Given the description of an element on the screen output the (x, y) to click on. 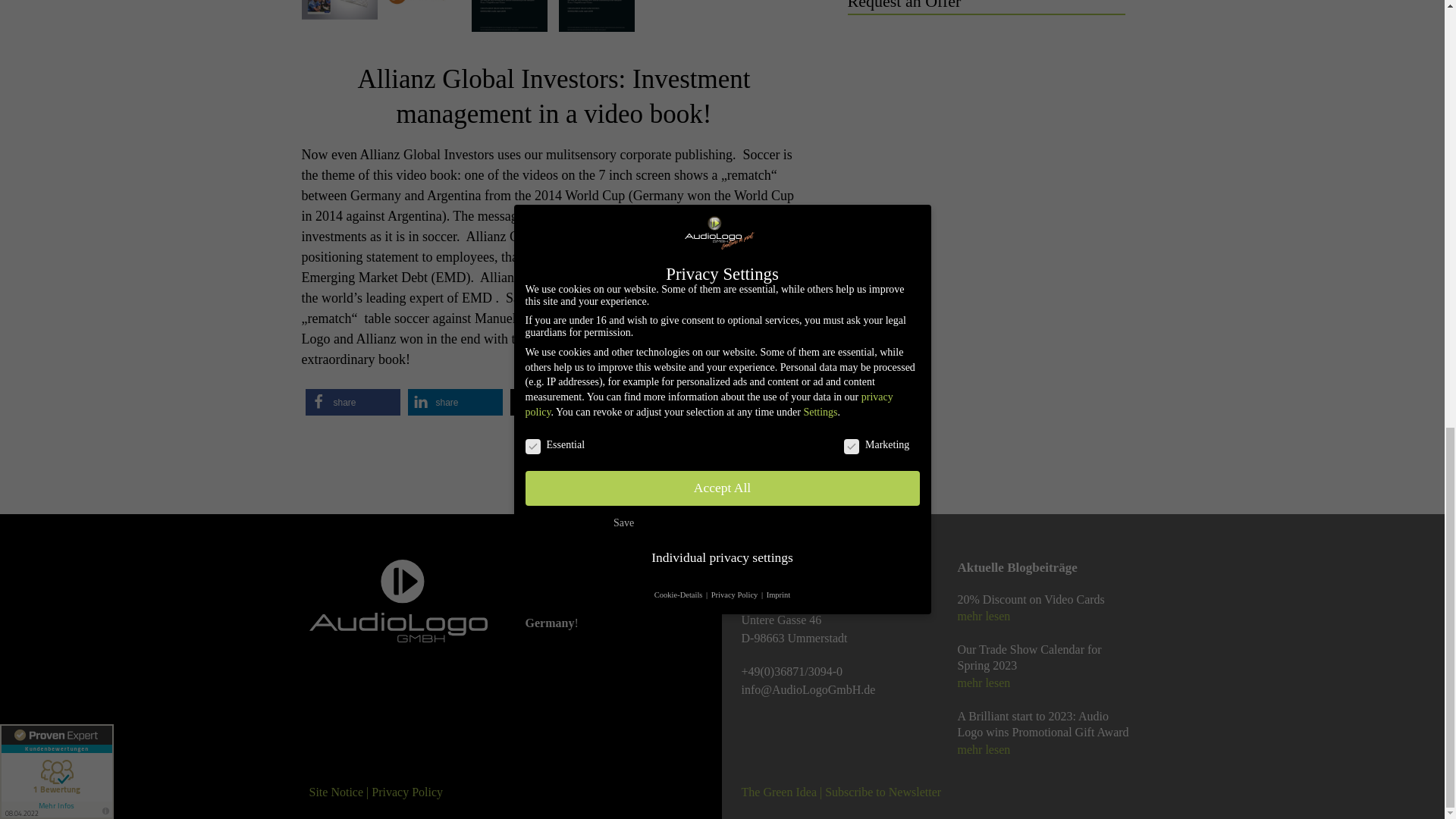
share  (351, 402)
Share on LinkedIn (454, 402)
tweet  (556, 402)
Promotional Gift Awards (599, 339)
share  (659, 402)
Share on XING (659, 402)
Share on Facebook (351, 402)
share  (454, 402)
